Given the description of an element on the screen output the (x, y) to click on. 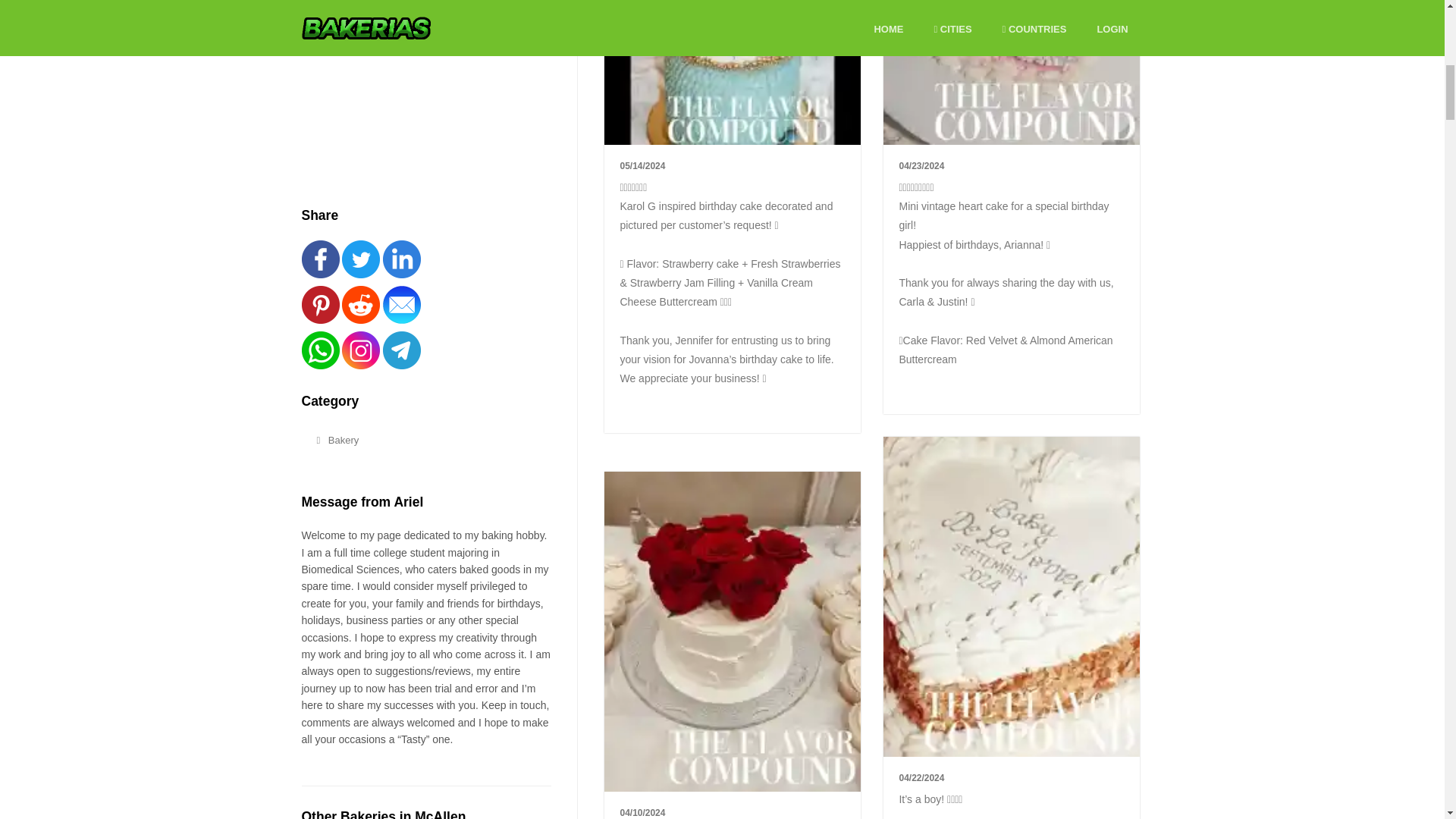
Want your business to be the top-listed Bakery in McAllen? (438, 10)
 Bakery (418, 440)
